Given the description of an element on the screen output the (x, y) to click on. 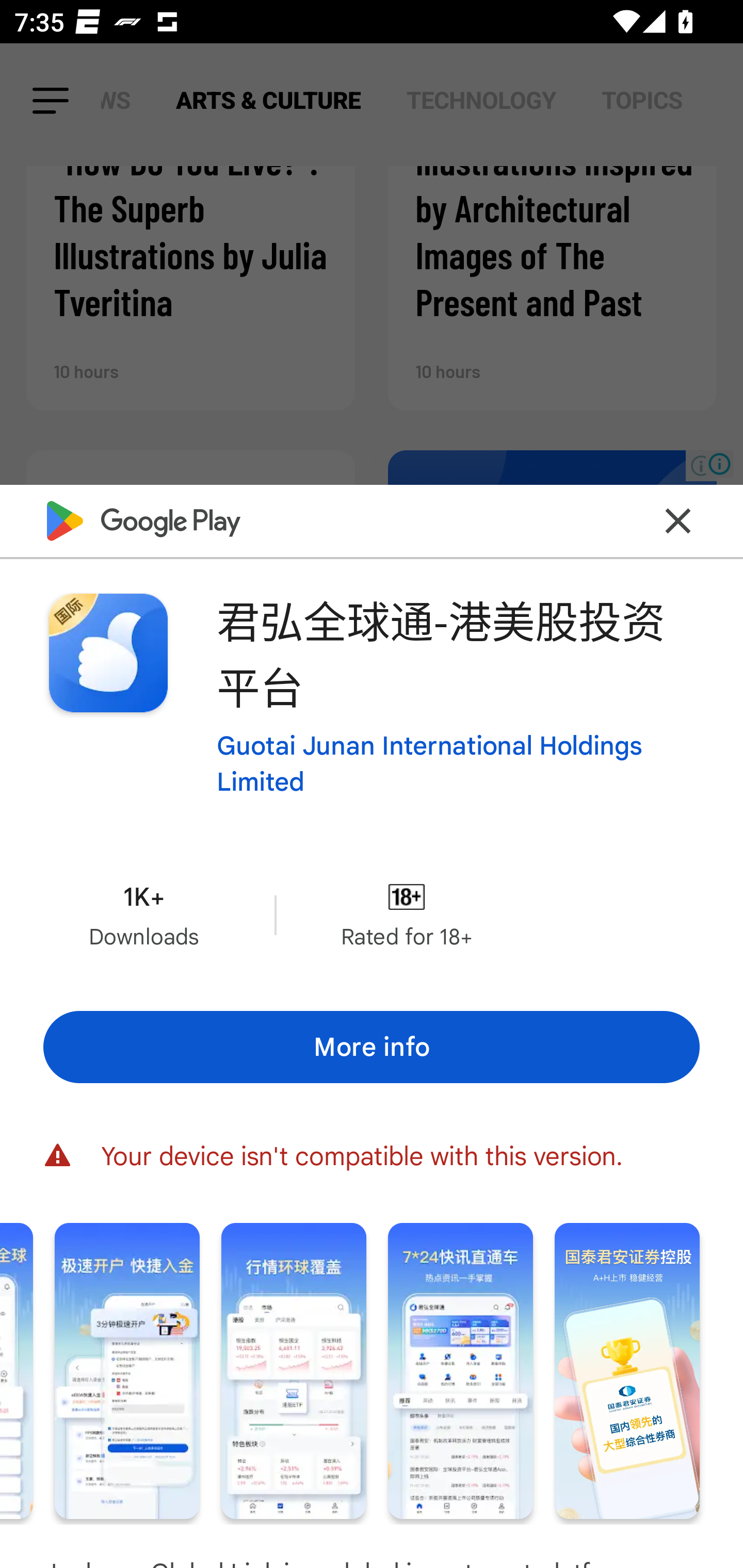
Close (677, 520)
Image of app or game icon for 君弘全球通-港美股投资平台 (108, 653)
Guotai Junan International Holdings Limited (457, 763)
More info (371, 1047)
Screenshot "3" of "6" (126, 1371)
Screenshot "4" of "6" (293, 1371)
Screenshot "5" of "6" (459, 1371)
Screenshot "6" of "6" (627, 1371)
